Given the description of an element on the screen output the (x, y) to click on. 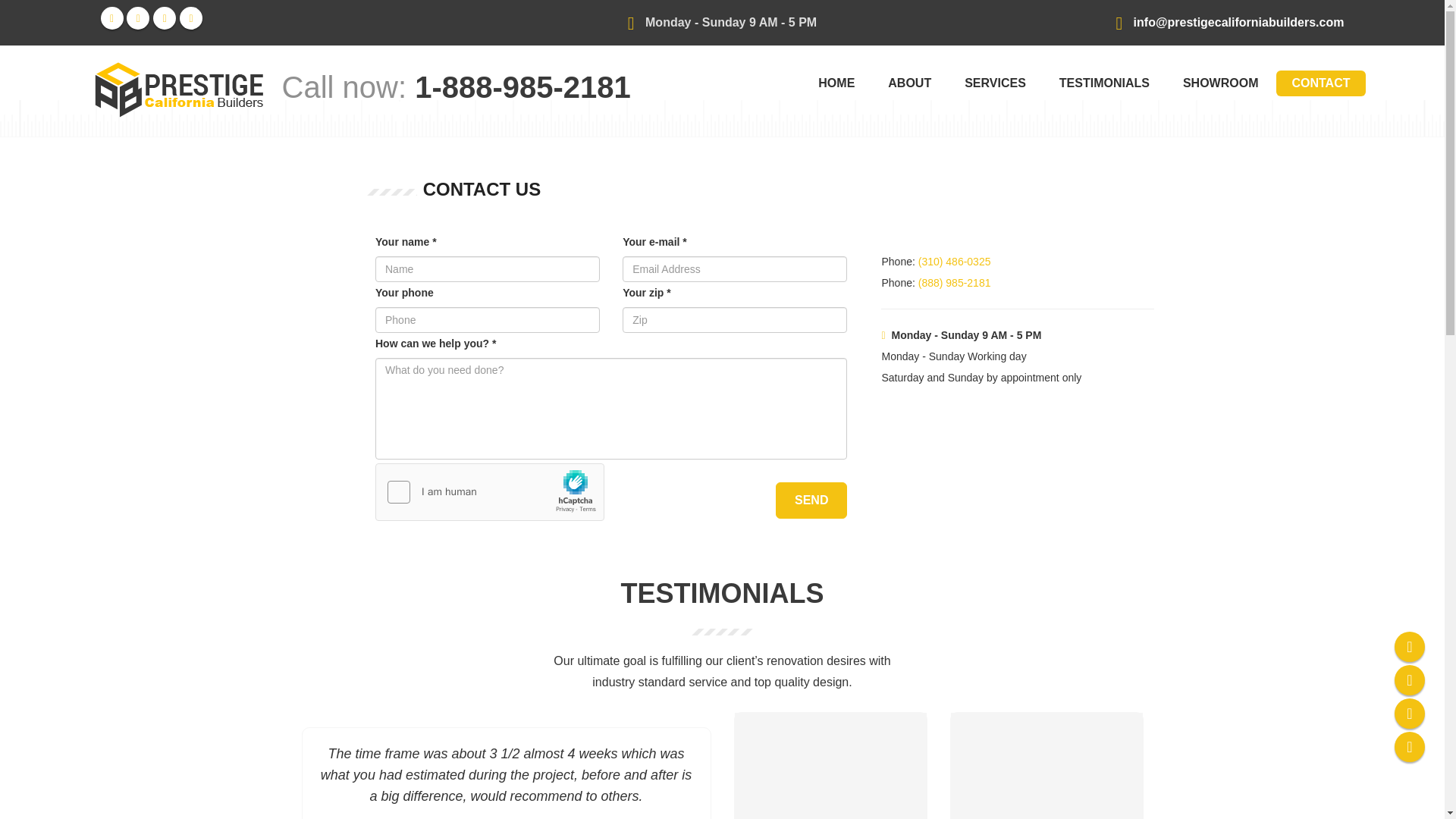
SERVICES (995, 83)
Twitter (1409, 682)
Facebook (111, 17)
Facebook (1409, 648)
SEND (811, 499)
CONTACT (1320, 83)
Pinterest (1409, 715)
Pinterest (164, 17)
Google (190, 17)
Widget containing checkbox for hCaptcha security challenge (490, 492)
